Given the description of an element on the screen output the (x, y) to click on. 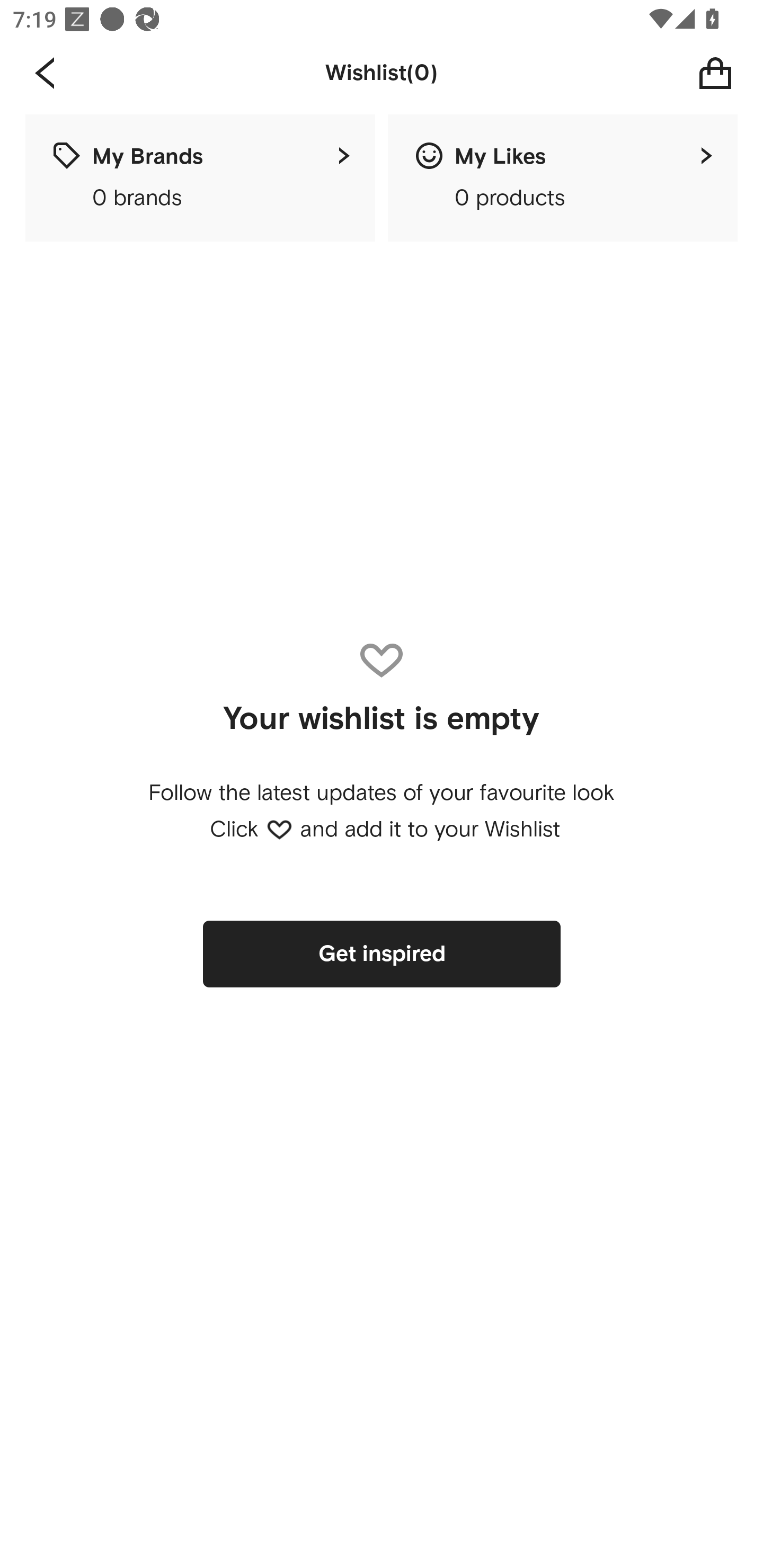
My Brands 0 brands (200, 177)
My Likes 0 products (562, 177)
Get inspired (381, 953)
